Given the description of an element on the screen output the (x, y) to click on. 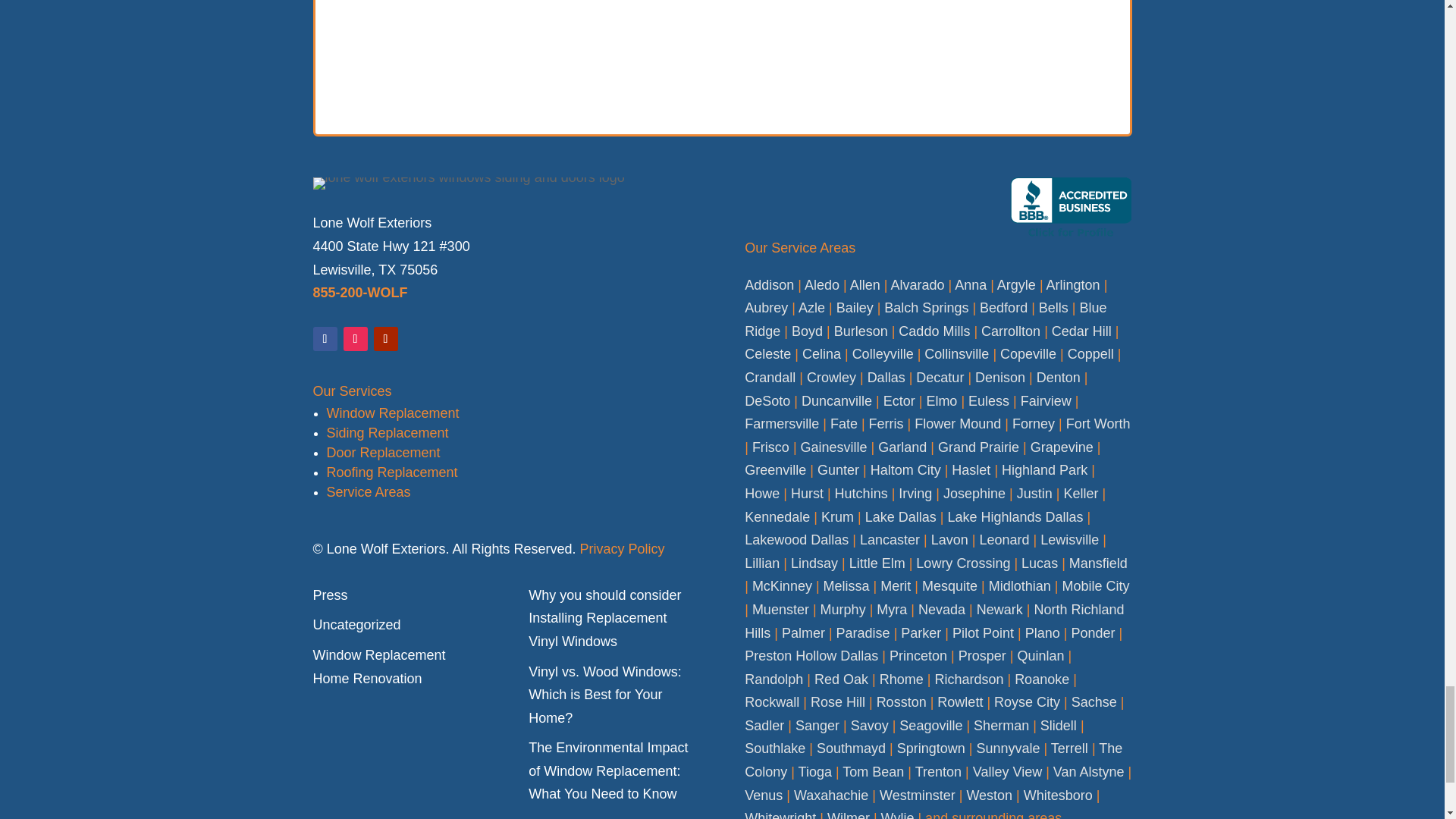
Follow on Instagram (354, 338)
Follow on Youtube (384, 338)
lone wolf exteriors windows siding and doors logo (468, 183)
Follow on Facebook (324, 338)
